Given the description of an element on the screen output the (x, y) to click on. 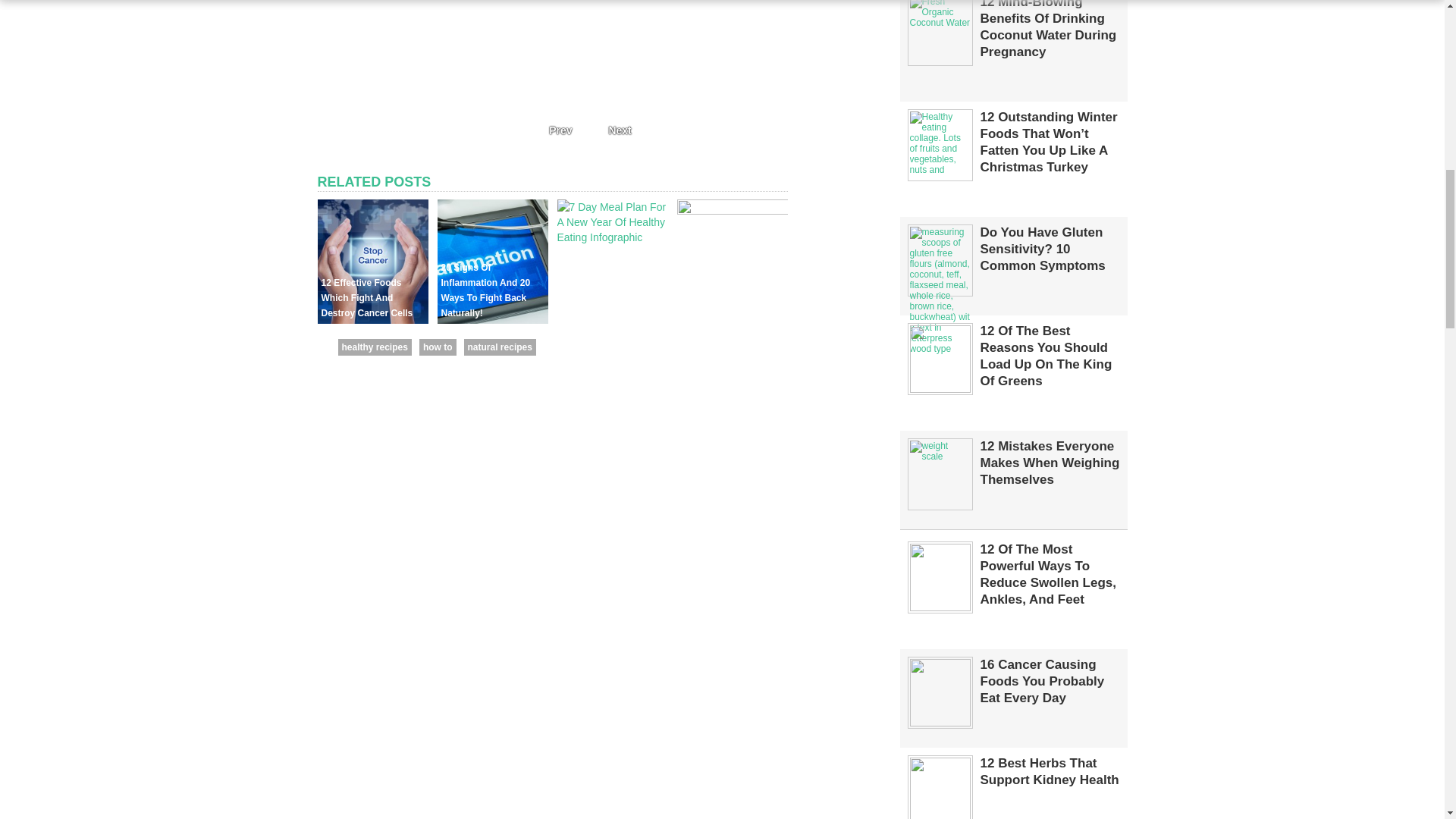
12 Effective Foods Which Fight And Destroy Cancer Cells (367, 297)
10 Sweet Ways Honey Can Improve Your Life (732, 210)
7 Day Meal Plan For A New Year Of Healthy Eating Infographic (607, 297)
Prev (555, 130)
12 Effective Foods Which Fight And Destroy Cancer Cells (372, 319)
Next (622, 130)
7 Day Meal Plan For A New Year Of Healthy Eating Infographic (611, 236)
